Given the description of an element on the screen output the (x, y) to click on. 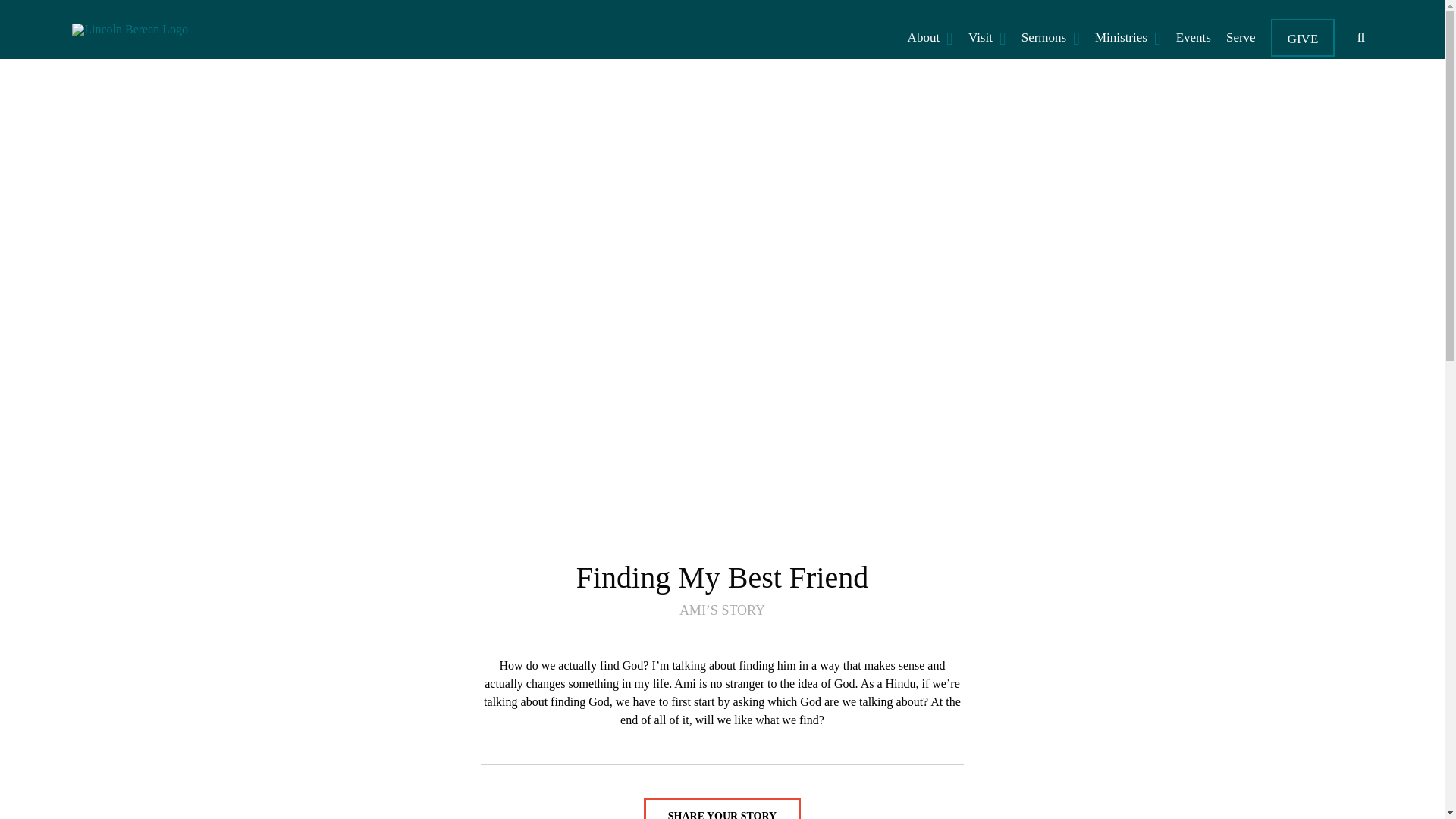
Sermons (1050, 37)
Ministries (1128, 37)
About (929, 37)
Serve (1240, 37)
SHARE YOUR STORY (721, 808)
Events (1193, 37)
Visit (986, 37)
GIVE (1302, 37)
